Given the description of an element on the screen output the (x, y) to click on. 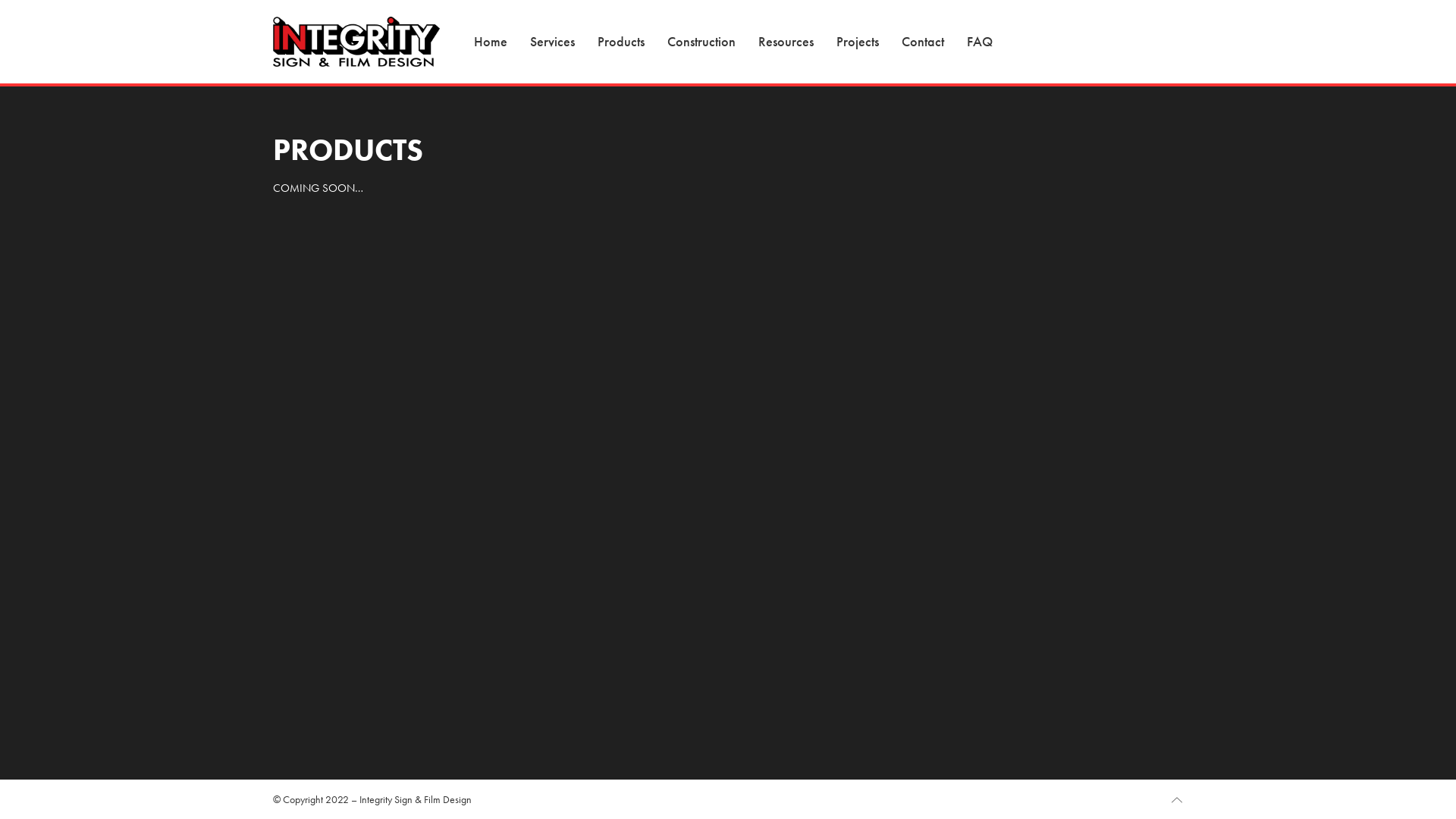
Services Element type: text (552, 41)
Products Element type: text (620, 41)
Construction Element type: text (700, 41)
Resources Element type: text (785, 41)
FAQ Element type: text (979, 41)
Contact Element type: text (922, 41)
Projects Element type: text (857, 41)
Home Element type: text (490, 41)
